Given the description of an element on the screen output the (x, y) to click on. 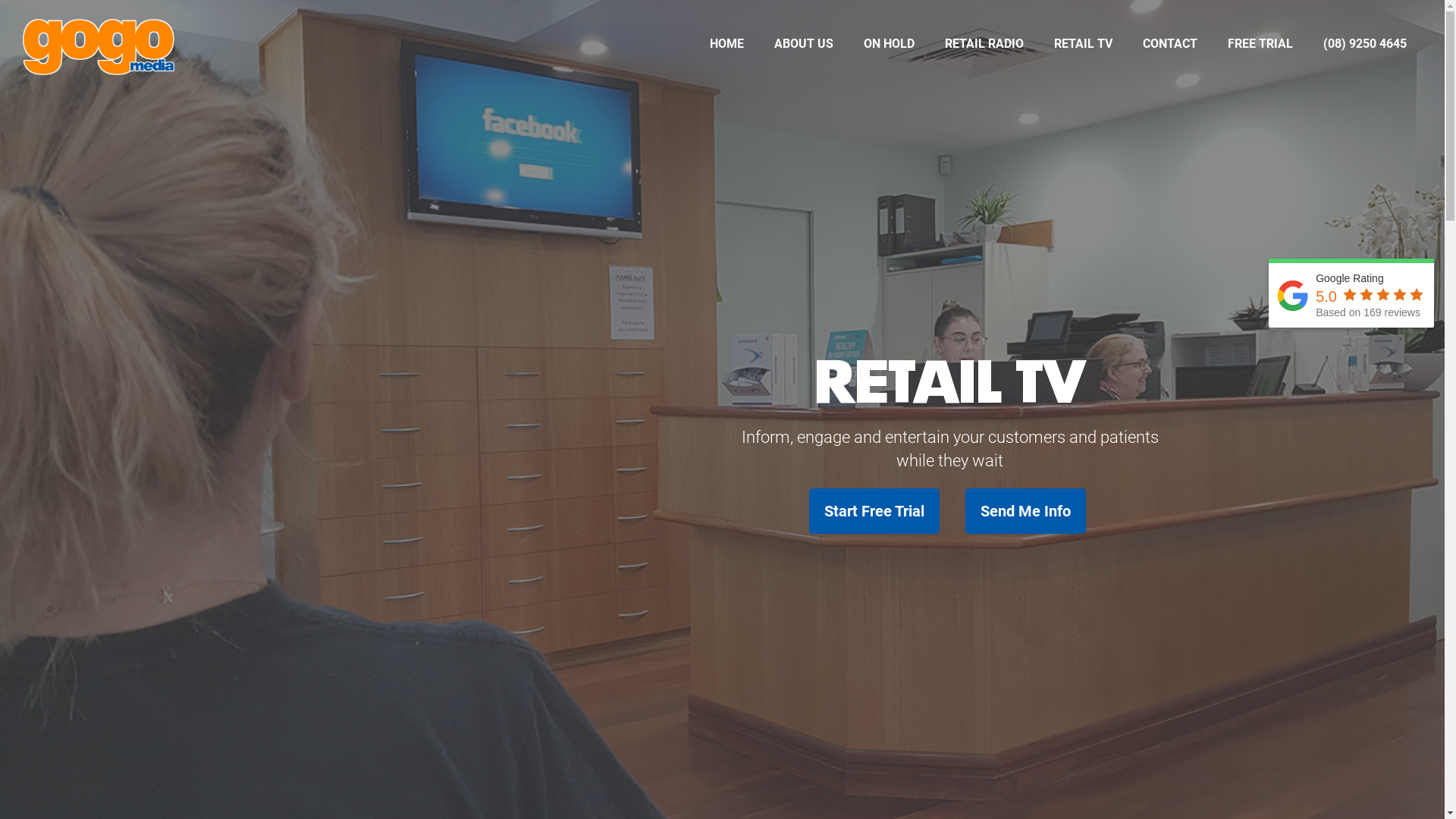
CONTACT Element type: text (1169, 48)
RETAIL RADIO Element type: text (983, 48)
(08) 9250 4645 Element type: text (186, 716)
Send Me Info Element type: text (1025, 510)
Start Free Trial Element type: text (873, 510)
FREE TRIAL Element type: text (1260, 48)
(08) 9250 4645 Element type: text (1364, 48)
Back to the top Element type: text (1258, 757)
Get a free trial Element type: text (1258, 716)
Level 1, 1 Old Perth Rd, Bassendean WA 6054 Element type: text (186, 674)
HOME Element type: text (726, 48)
RETAIL TV Element type: text (1082, 48)
ON HOLD Element type: text (888, 48)
team@gogomedia.com.au Element type: text (186, 757)
ABOUT US Element type: text (803, 48)
